Given the description of an element on the screen output the (x, y) to click on. 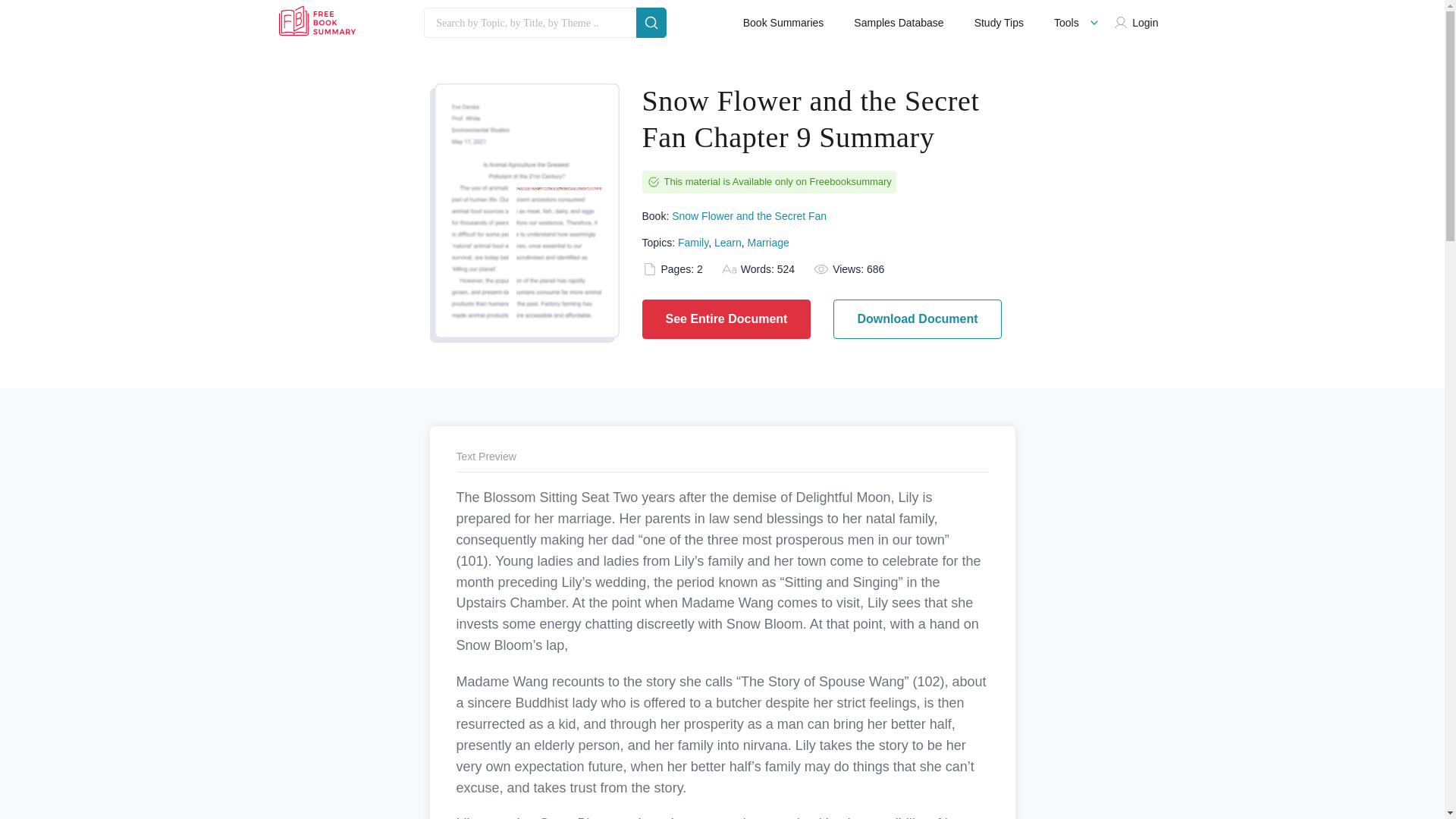
Login (1139, 22)
Marriage (768, 242)
Snow Flower and the Secret Fan (749, 215)
Learn (727, 242)
Book Summaries (783, 22)
Family (692, 242)
Samples Database (897, 22)
Study Tips (998, 22)
Tools (1066, 22)
